Given the description of an element on the screen output the (x, y) to click on. 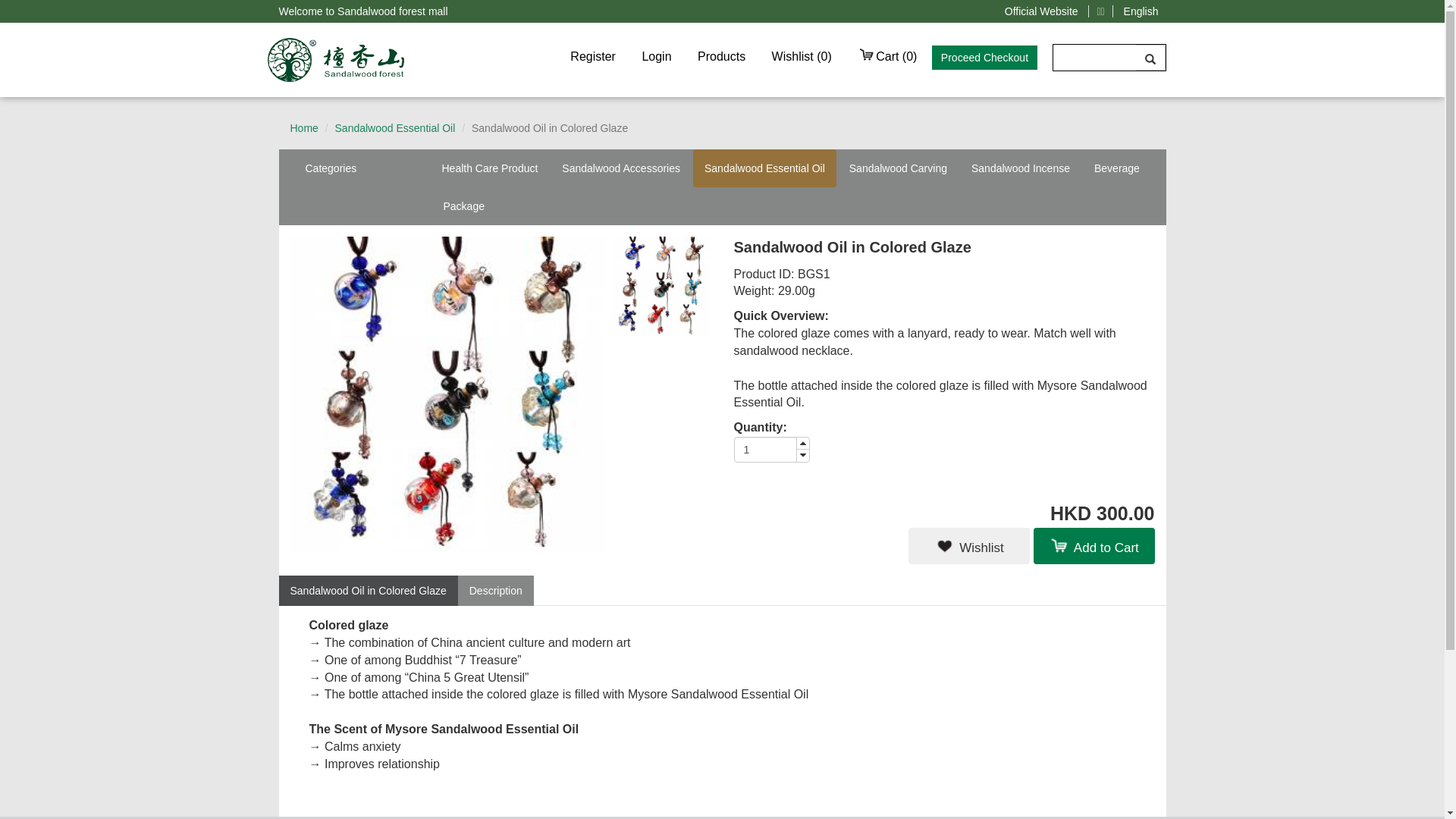
Package Element type: text (463, 206)
English Element type: text (1141, 11)
Wishlist (0) Element type: text (801, 56)
Products Element type: text (721, 56)
Sandalwood Oil in Colored Glaze Element type: text (368, 590)
Sandalwood Carving Element type: text (897, 168)
Sandalwood Essential Oil Element type: text (395, 128)
Sandalwood Incense Element type: text (1020, 168)
Add to Cart Element type: text (1093, 545)
Health Care Product Element type: text (489, 168)
Wishlist Element type: text (968, 545)
Register Element type: text (592, 56)
Official Website Element type: text (1041, 11)
Sandalwood Essential Oil Element type: text (764, 168)
Sandalwood Accessories Element type: text (620, 168)
Login Element type: text (656, 56)
Description Element type: text (495, 590)
Home Element type: text (303, 128)
Beverage Element type: text (1116, 168)
Proceed Checkout Element type: text (984, 57)
Cart (0) Element type: text (887, 56)
